Given the description of an element on the screen output the (x, y) to click on. 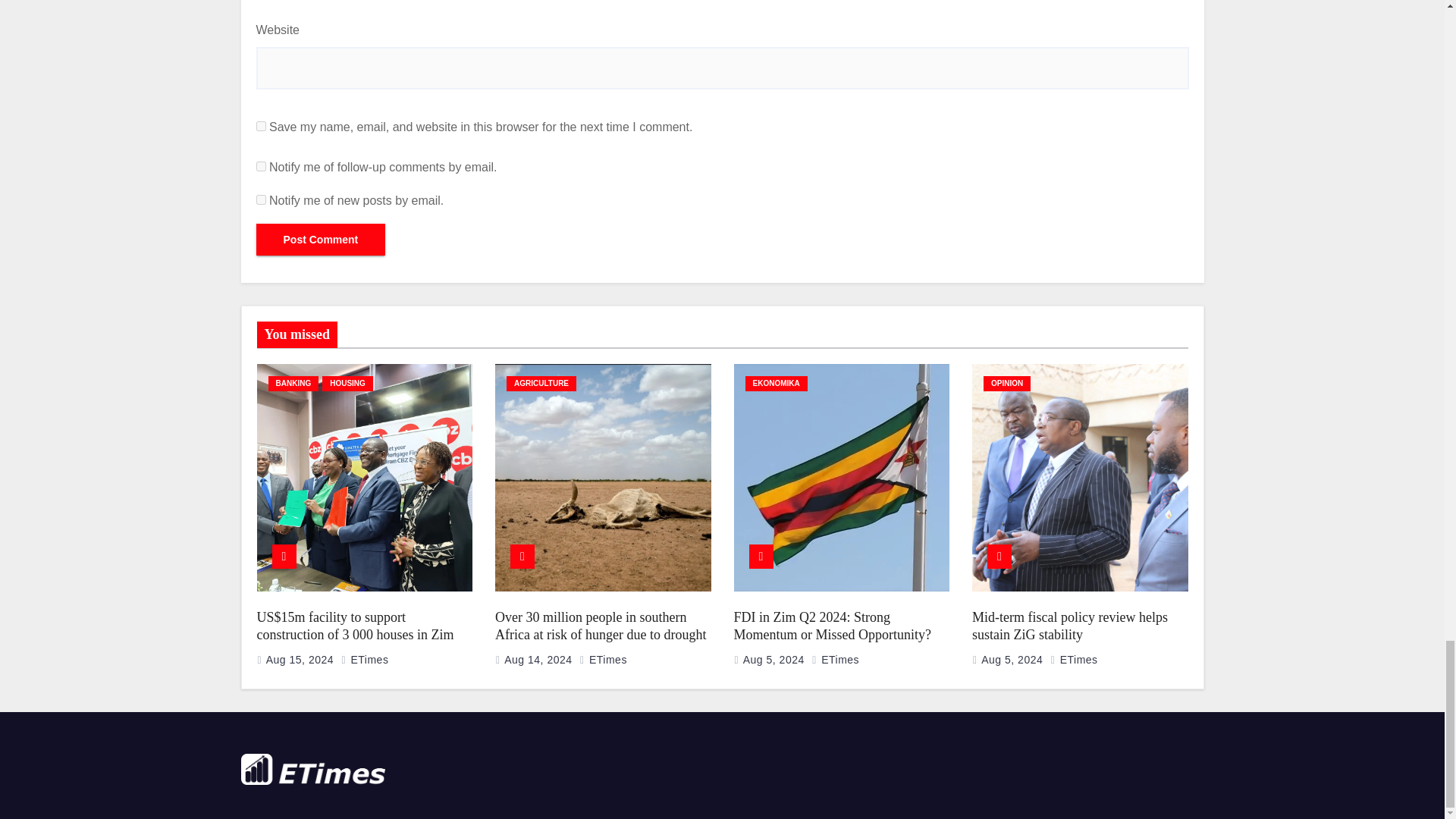
Post Comment (320, 239)
subscribe (261, 199)
subscribe (261, 165)
yes (261, 126)
